Given the description of an element on the screen output the (x, y) to click on. 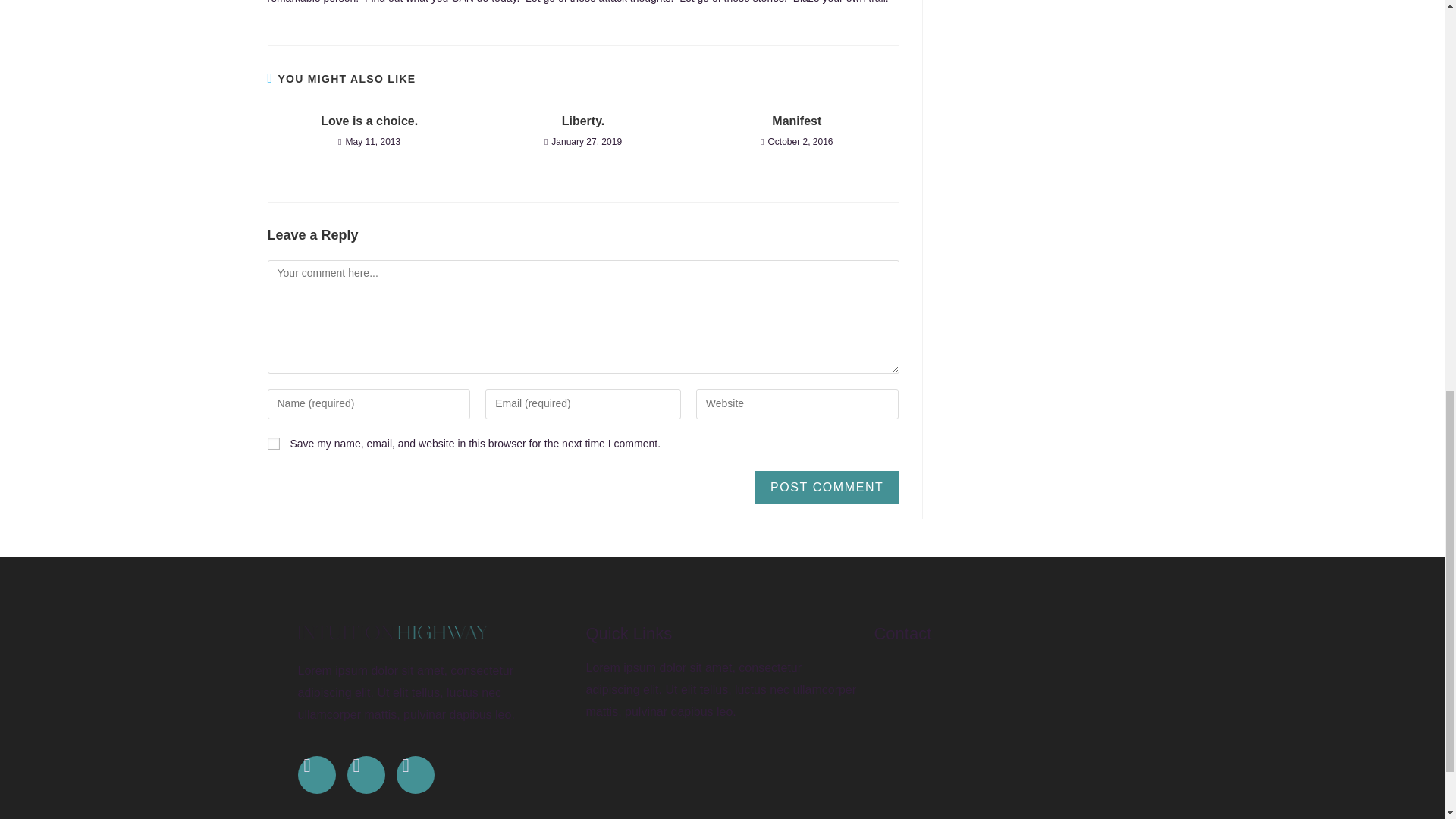
Liberty. (582, 121)
yes (272, 443)
Love is a choice. (368, 121)
Manifest (796, 121)
Post Comment (827, 487)
Post Comment (827, 487)
